Given the description of an element on the screen output the (x, y) to click on. 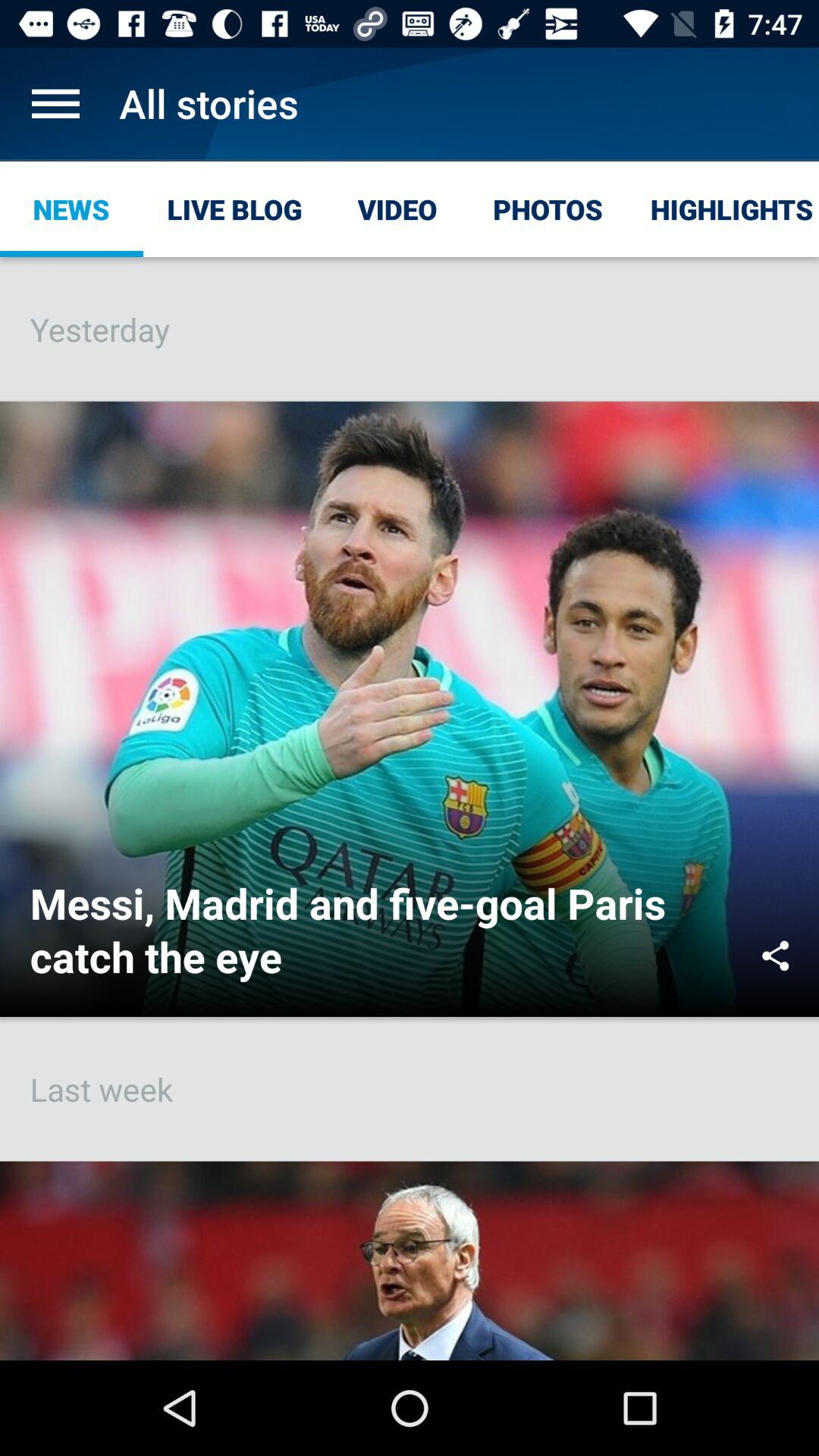
click icon next to all stories app (55, 103)
